Given the description of an element on the screen output the (x, y) to click on. 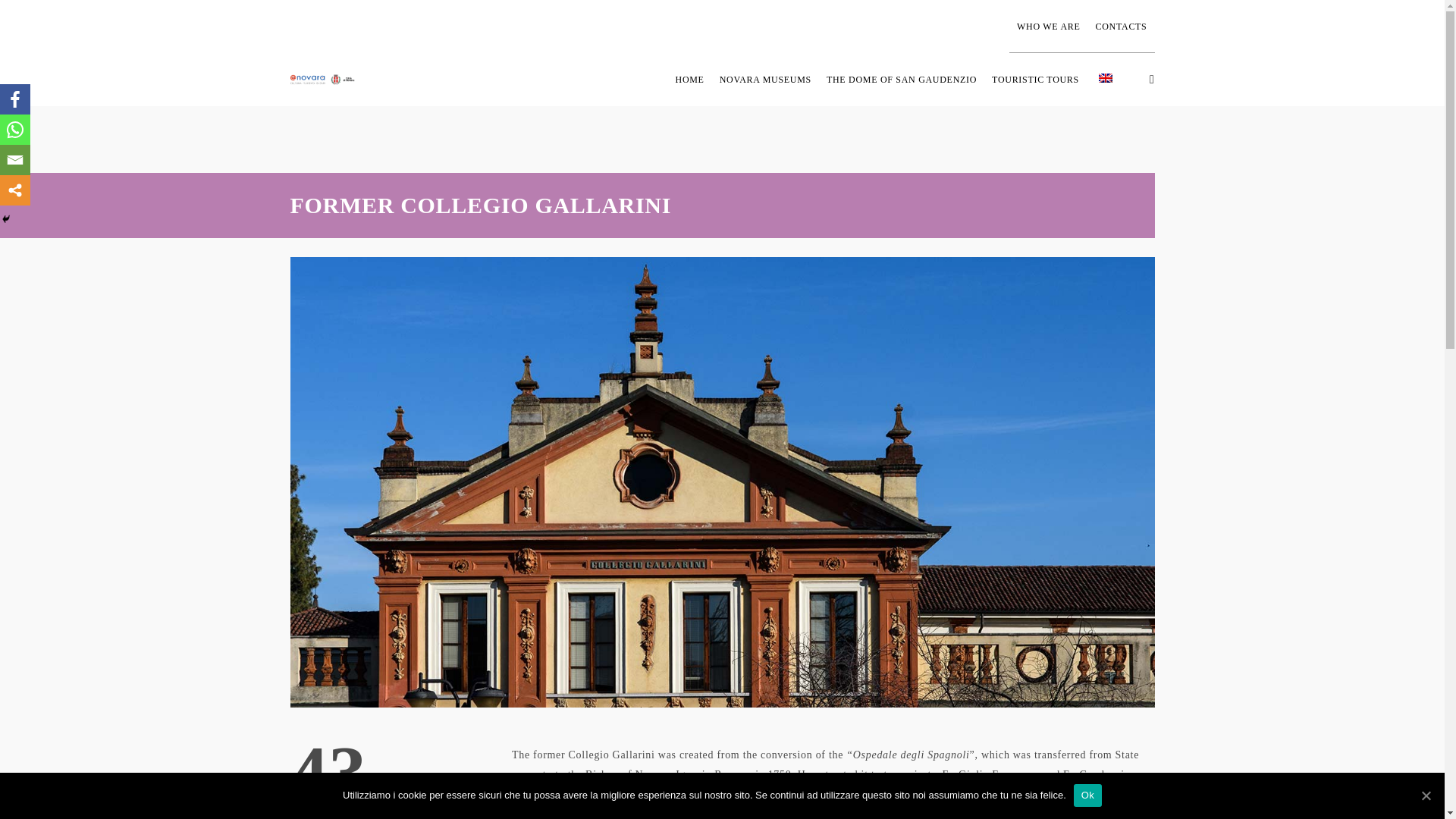
THE DOME OF SAN GAUDENZIO (901, 79)
NOVARA MUSEUMS (764, 79)
CONTACTS (1120, 26)
WHO WE ARE (1048, 26)
Hide (5, 218)
TOURISTIC TOURS (1037, 79)
Whatsapp (15, 129)
Email (15, 159)
Facebook (15, 99)
More (15, 190)
